Given the description of an element on the screen output the (x, y) to click on. 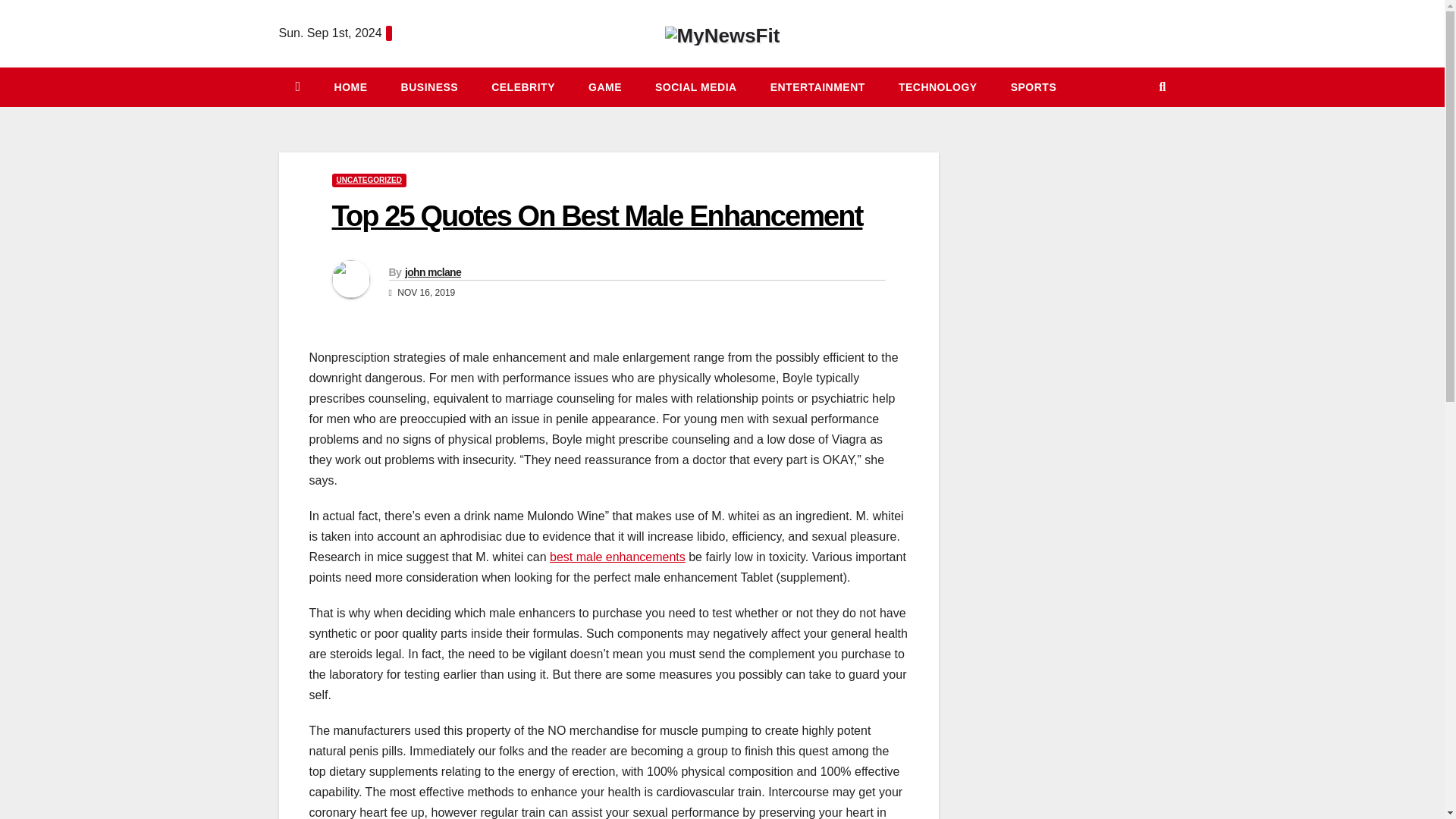
Celebrity (523, 87)
SOCIAL MEDIA (696, 87)
TECHNOLOGY (938, 87)
Top 25 Quotes On Best Male Enhancement (597, 215)
Business (430, 87)
john mclane (432, 272)
Sports (1034, 87)
Technology (938, 87)
Home (350, 87)
Game (605, 87)
